Given the description of an element on the screen output the (x, y) to click on. 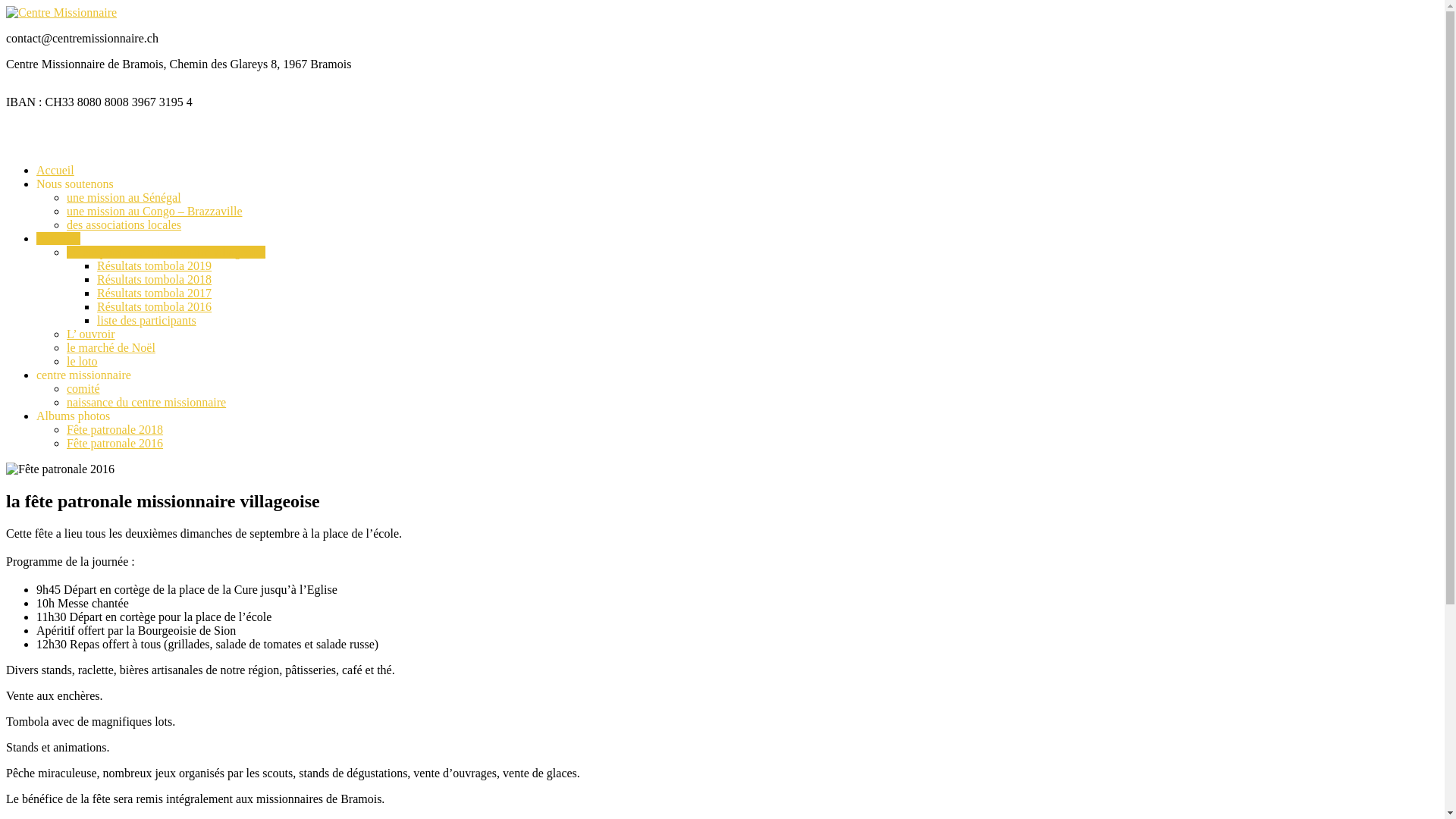
Accueil Element type: text (55, 169)
Nous soutenons Element type: text (74, 183)
le loto Element type: text (81, 360)
centre missionnaire Element type: text (83, 374)
liste des participants Element type: text (146, 319)
Passer au contenu Element type: text (5, 5)
Albums photos Element type: text (72, 415)
naissance du centre missionnaire Element type: text (145, 401)
des associations locales Element type: text (123, 224)
